Given the description of an element on the screen output the (x, y) to click on. 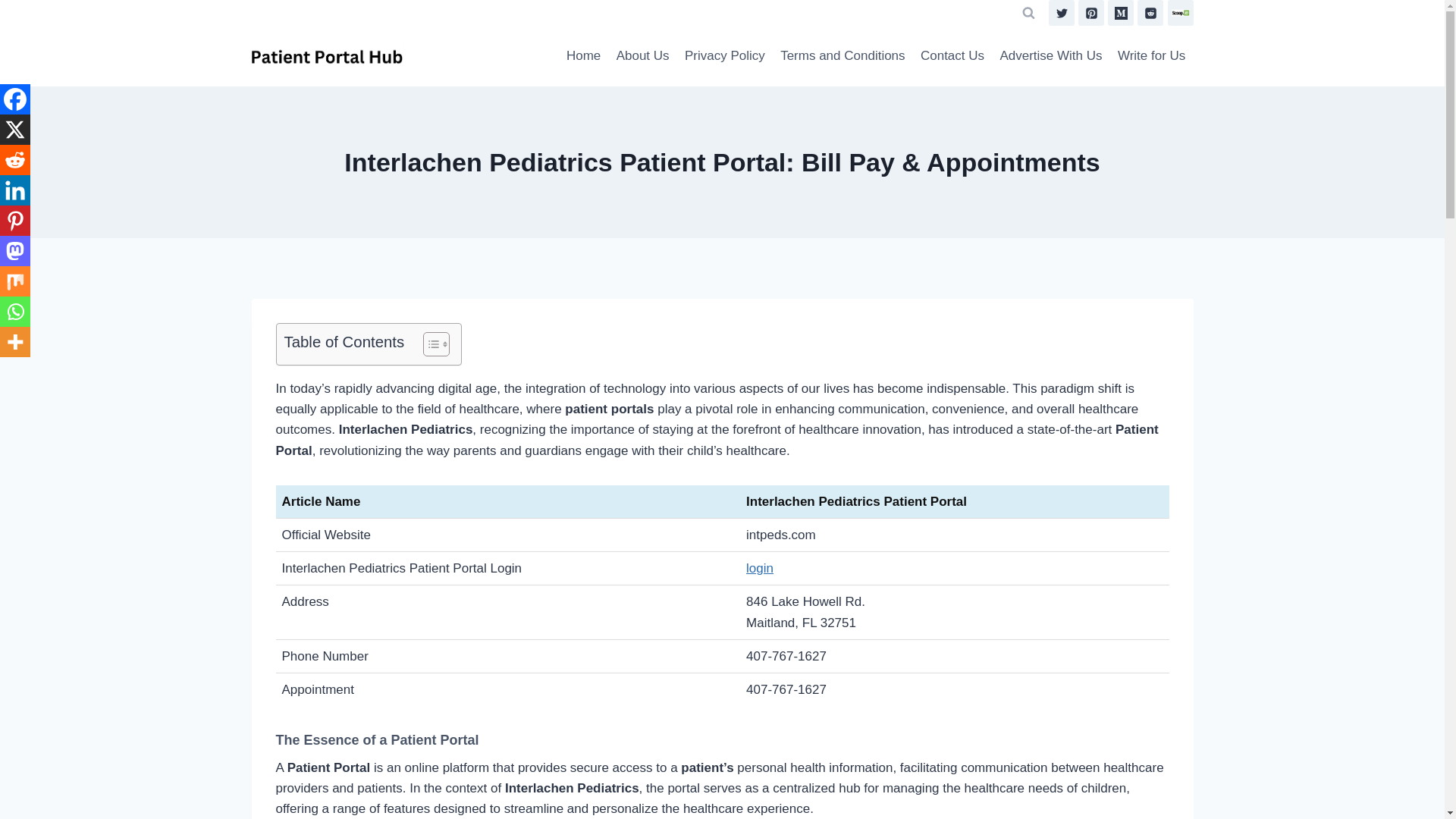
About Us (642, 55)
Advertise With Us (1050, 55)
Privacy Policy (725, 55)
Home (583, 55)
Contact Us (951, 55)
login (759, 568)
Write for Us (1151, 55)
Terms and Conditions (842, 55)
